Given the description of an element on the screen output the (x, y) to click on. 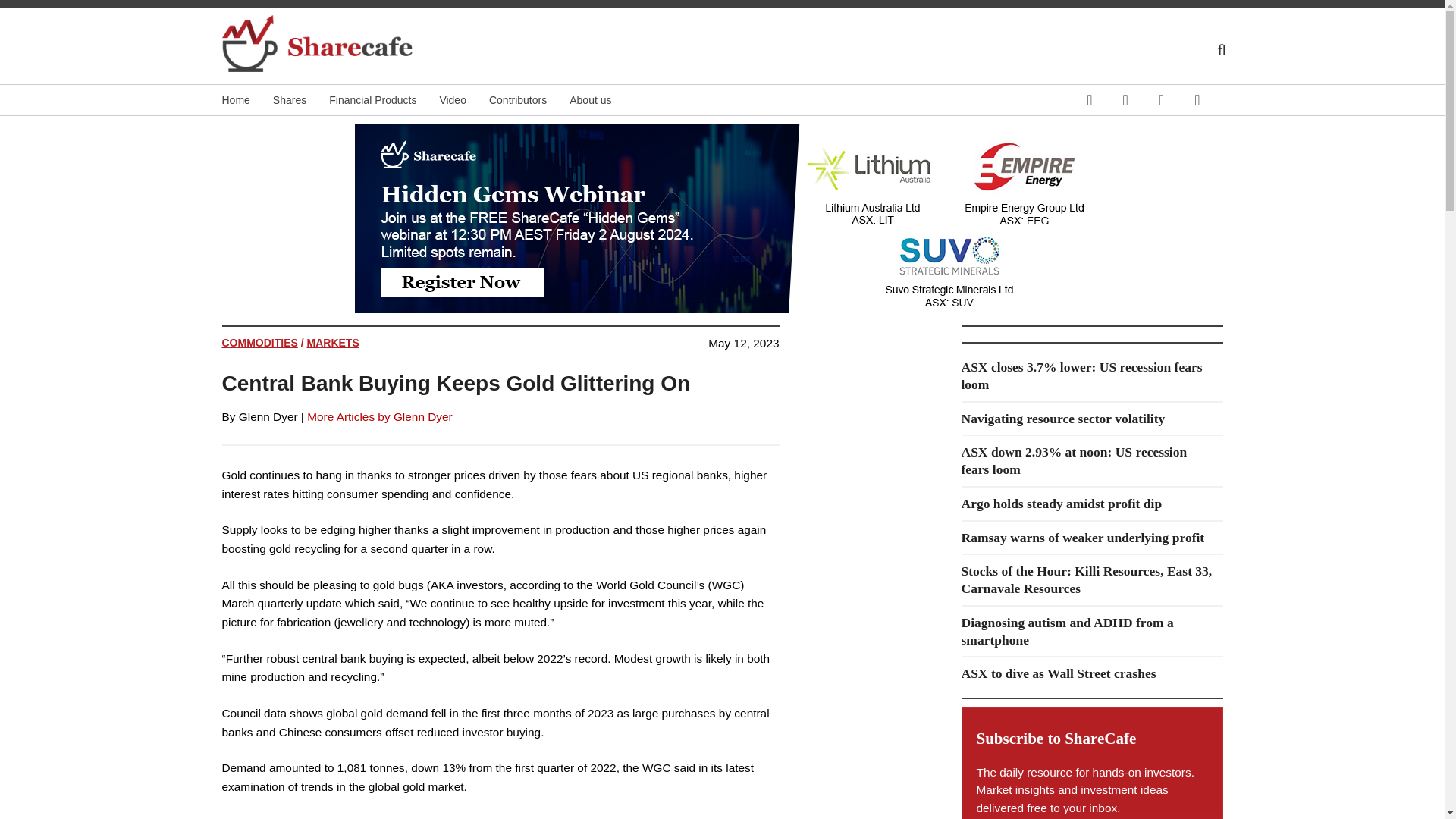
MARKETS (333, 342)
Shares (301, 100)
Home (246, 100)
About us (601, 100)
Video (464, 100)
Financial Products (384, 100)
Contributors (529, 100)
More Articles by Glenn Dyer (379, 416)
COMMODITIES (259, 342)
